Given the description of an element on the screen output the (x, y) to click on. 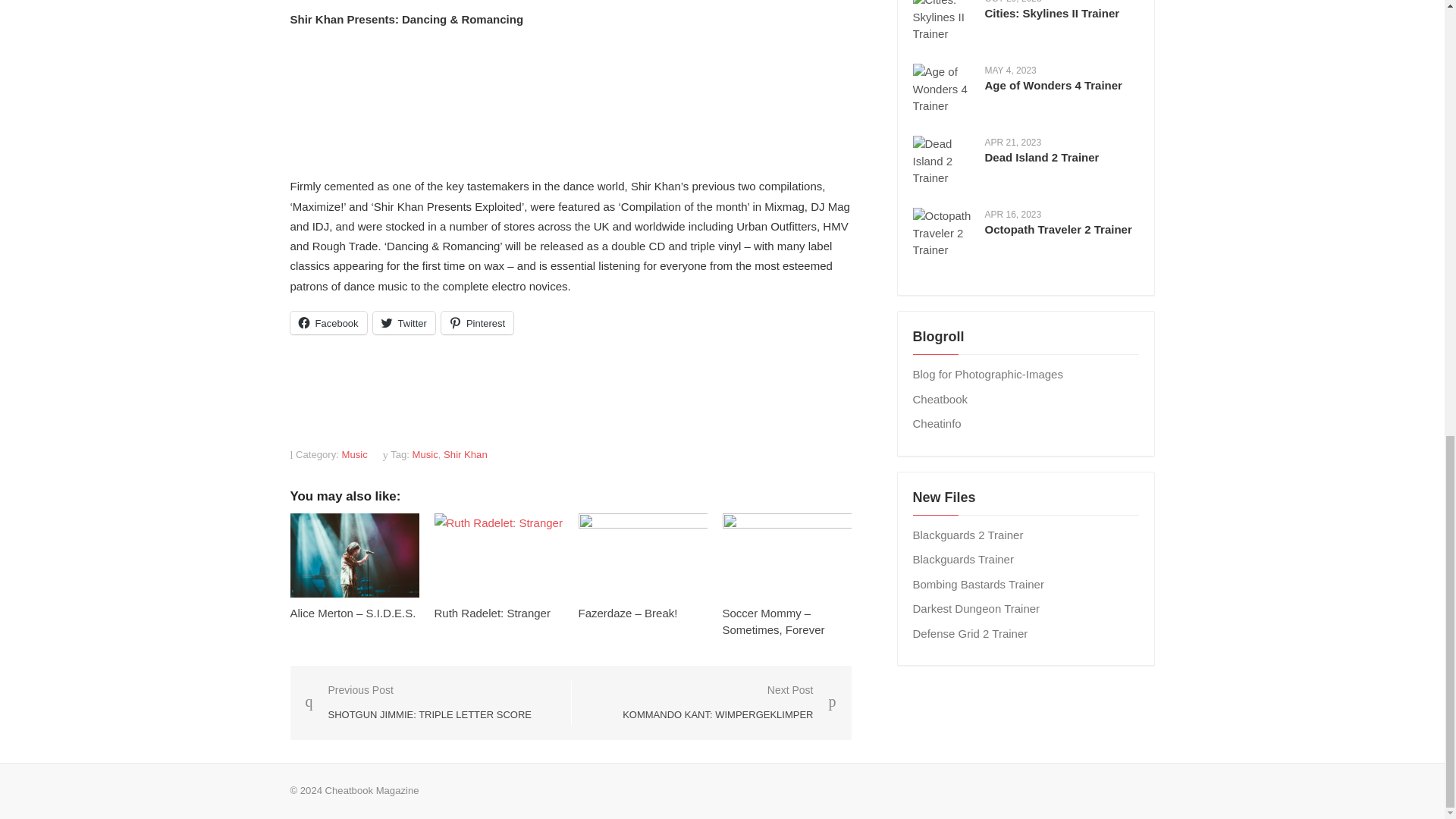
Blackguards 2 Trainer (967, 534)
Music (417, 701)
Defense Grid 2 Trainer (355, 454)
Facebook (969, 633)
Ruth Radelet: Stranger (327, 323)
Pinterest (491, 612)
Click to share on Pinterest (477, 323)
Twitter (477, 323)
Music (403, 323)
